Given the description of an element on the screen output the (x, y) to click on. 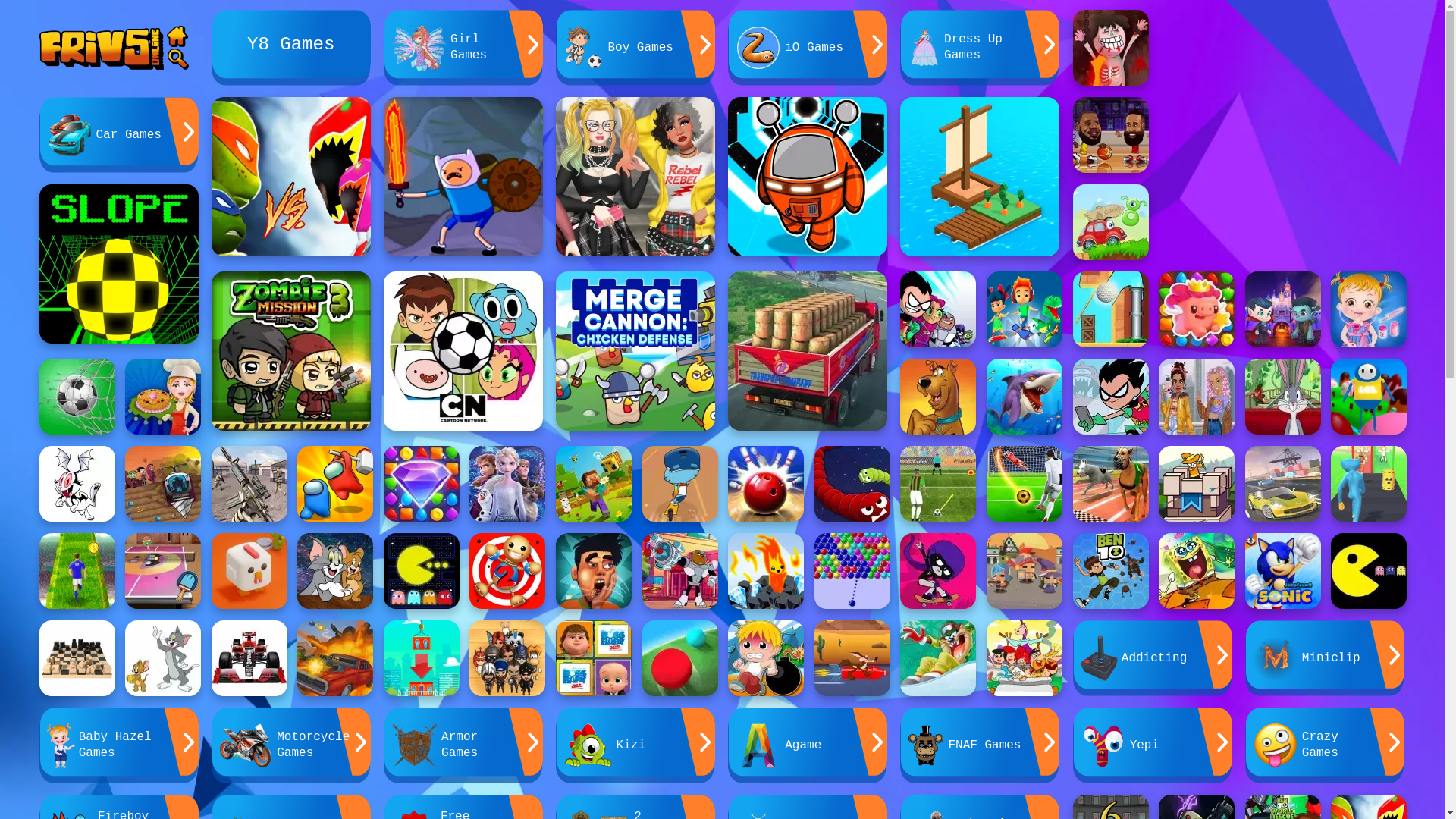
iO Games Element type: text (807, 47)
Armor Games Element type: text (462, 745)
Miniclip Element type: text (1324, 658)
Motorcycle Games Element type: text (290, 745)
Friv Element type: text (101, 46)
Crazy Games Element type: text (1324, 745)
FNAF Games Element type: text (979, 745)
Addicting Element type: text (1152, 658)
Advertisement Element type: hover (1282, 104)
Search Element type: text (177, 58)
Girl Games Element type: text (462, 47)
Agame Element type: text (807, 745)
Kizi Element type: text (635, 745)
Boy Games Element type: text (635, 47)
Yepi Element type: text (1152, 745)
Dress Up Games Element type: text (979, 47)
Car Games Element type: text (118, 134)
Baby Hazel Games Element type: text (118, 745)
